Given the description of an element on the screen output the (x, y) to click on. 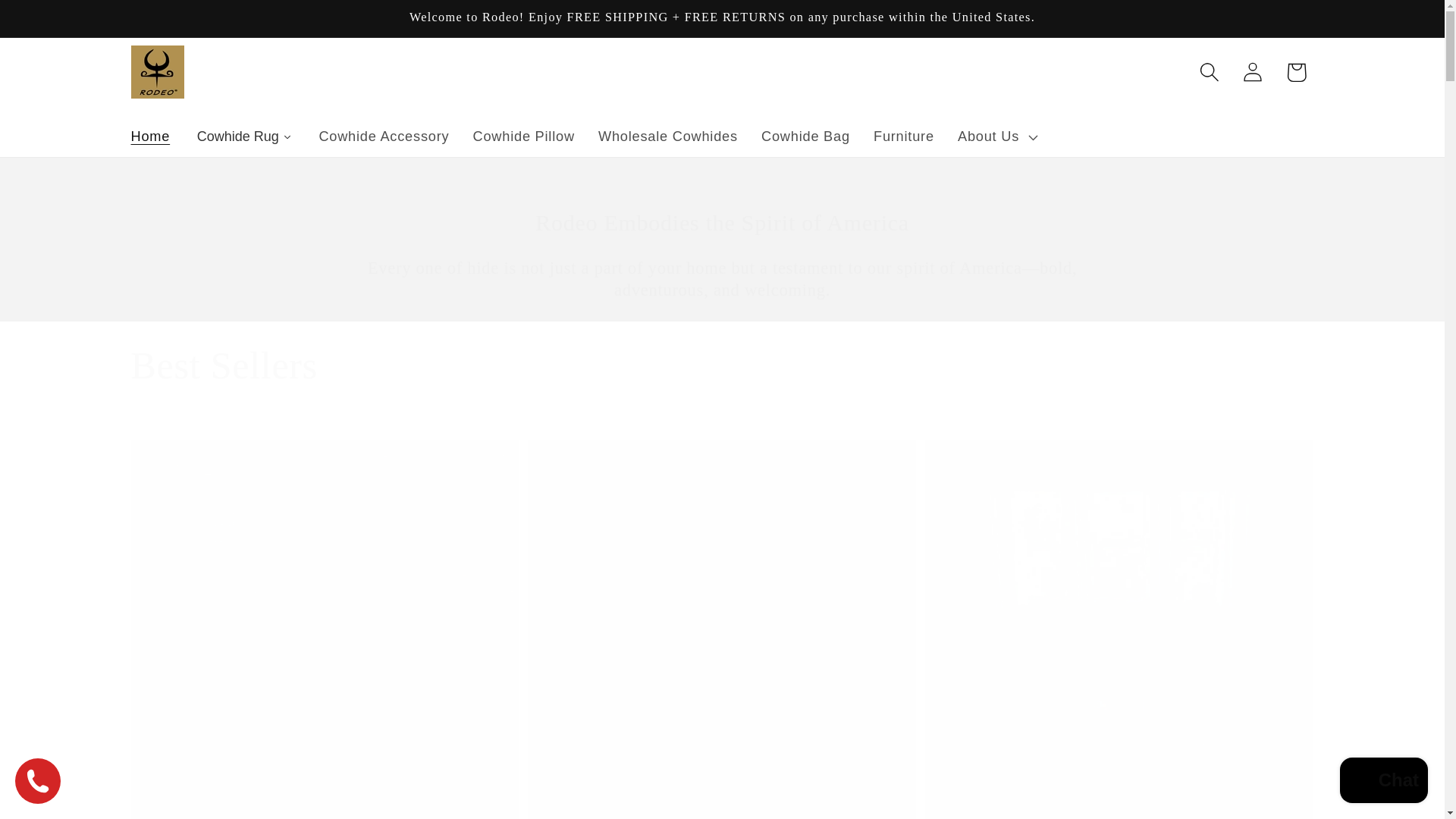
Best Sellers (224, 365)
Shopify online store chat (1383, 781)
Cowhide Rug (244, 136)
Skip to content (59, 22)
Rodeo Embodies the Spirit of America (721, 222)
